Given the description of an element on the screen output the (x, y) to click on. 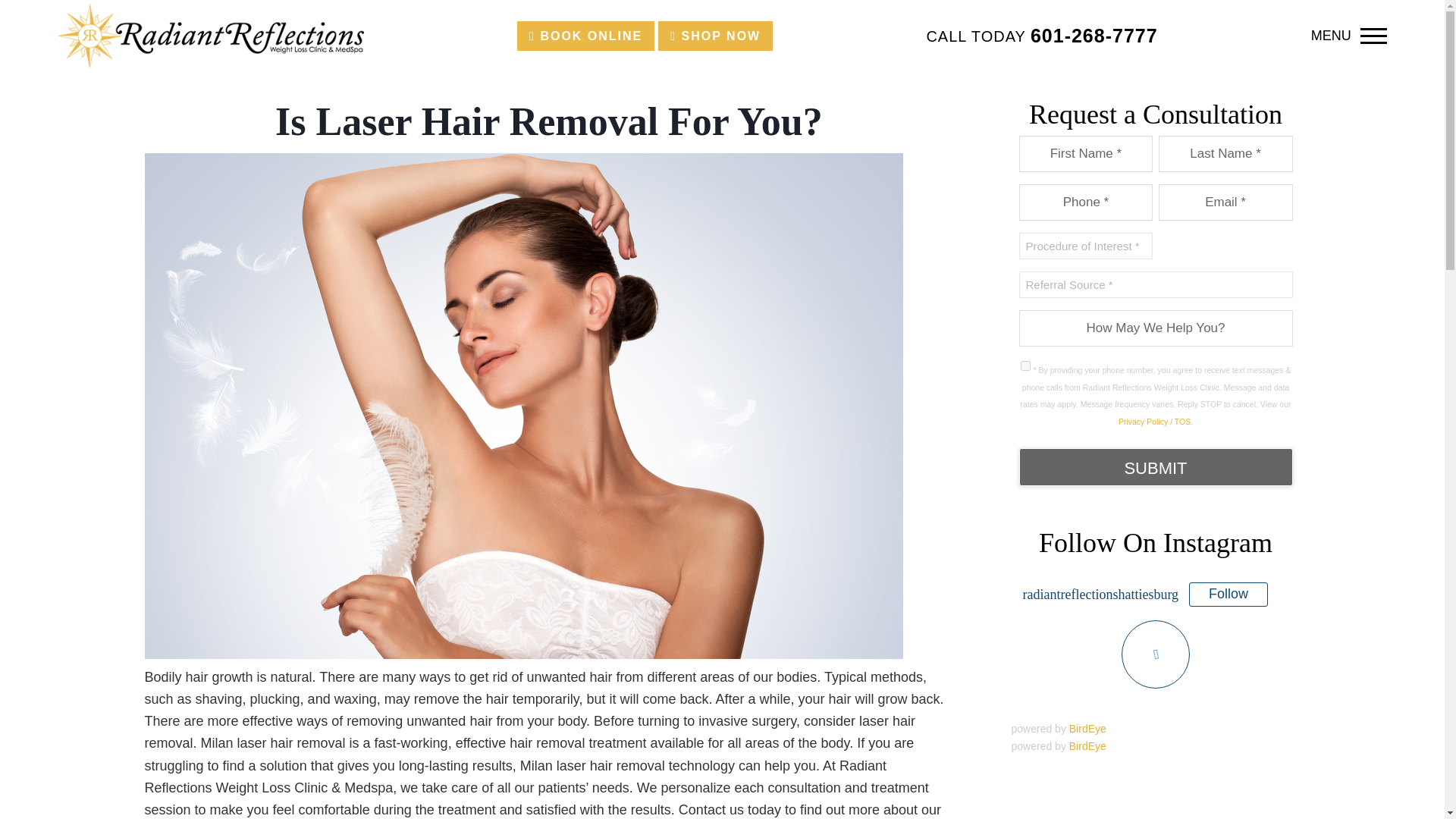
SHOP NOW (715, 35)
Is Laser Hair Removal For You? (523, 654)
Privacy Policy (1155, 420)
1 (1025, 366)
MENU (1349, 35)
CALL TODAY601-268-7777 (1041, 35)
SUBMIT (1155, 466)
BOOK ONLINE (584, 35)
